Given the description of an element on the screen output the (x, y) to click on. 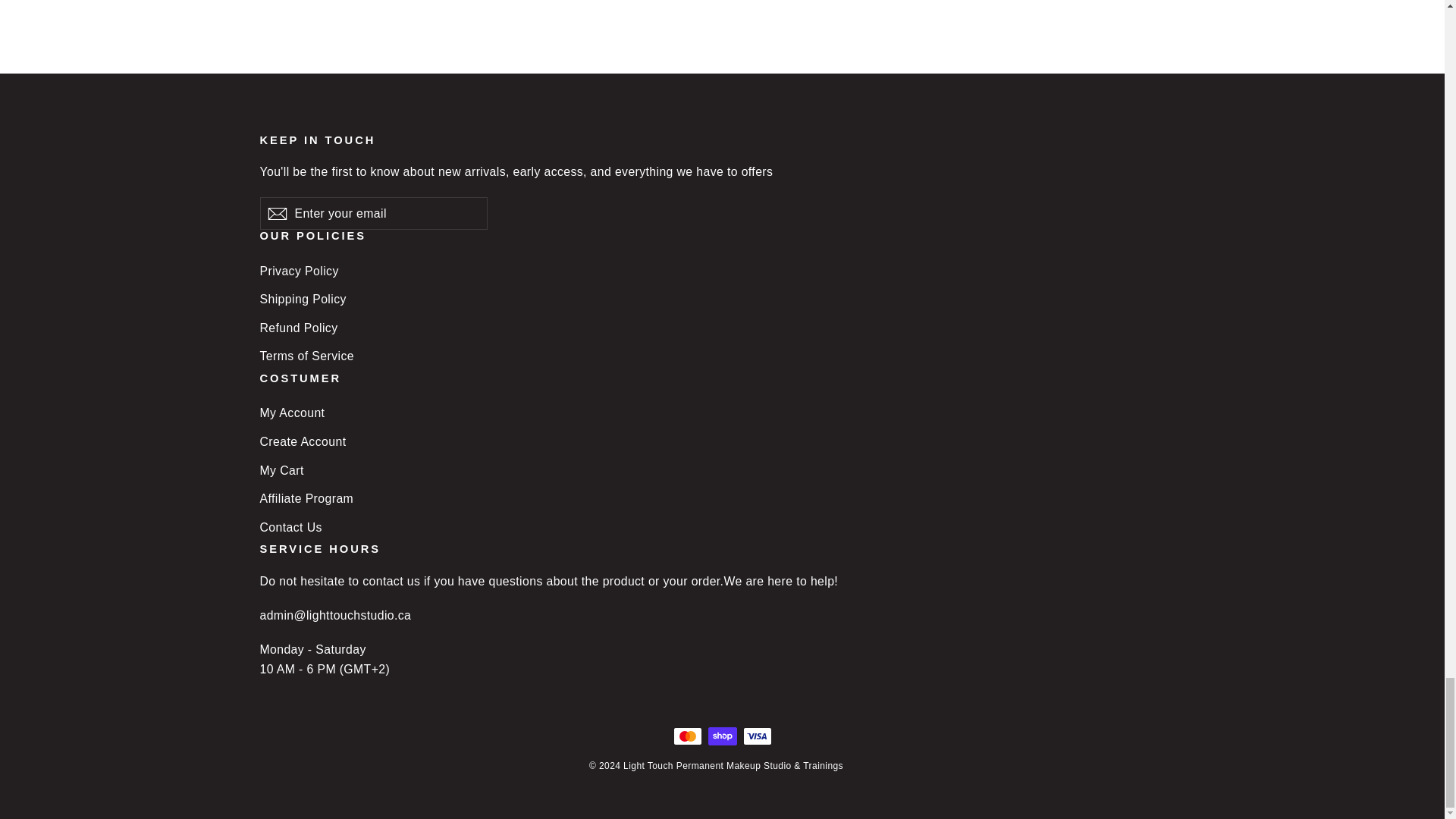
Shop Pay (721, 736)
Visa (756, 736)
Mastercard (686, 736)
